Given the description of an element on the screen output the (x, y) to click on. 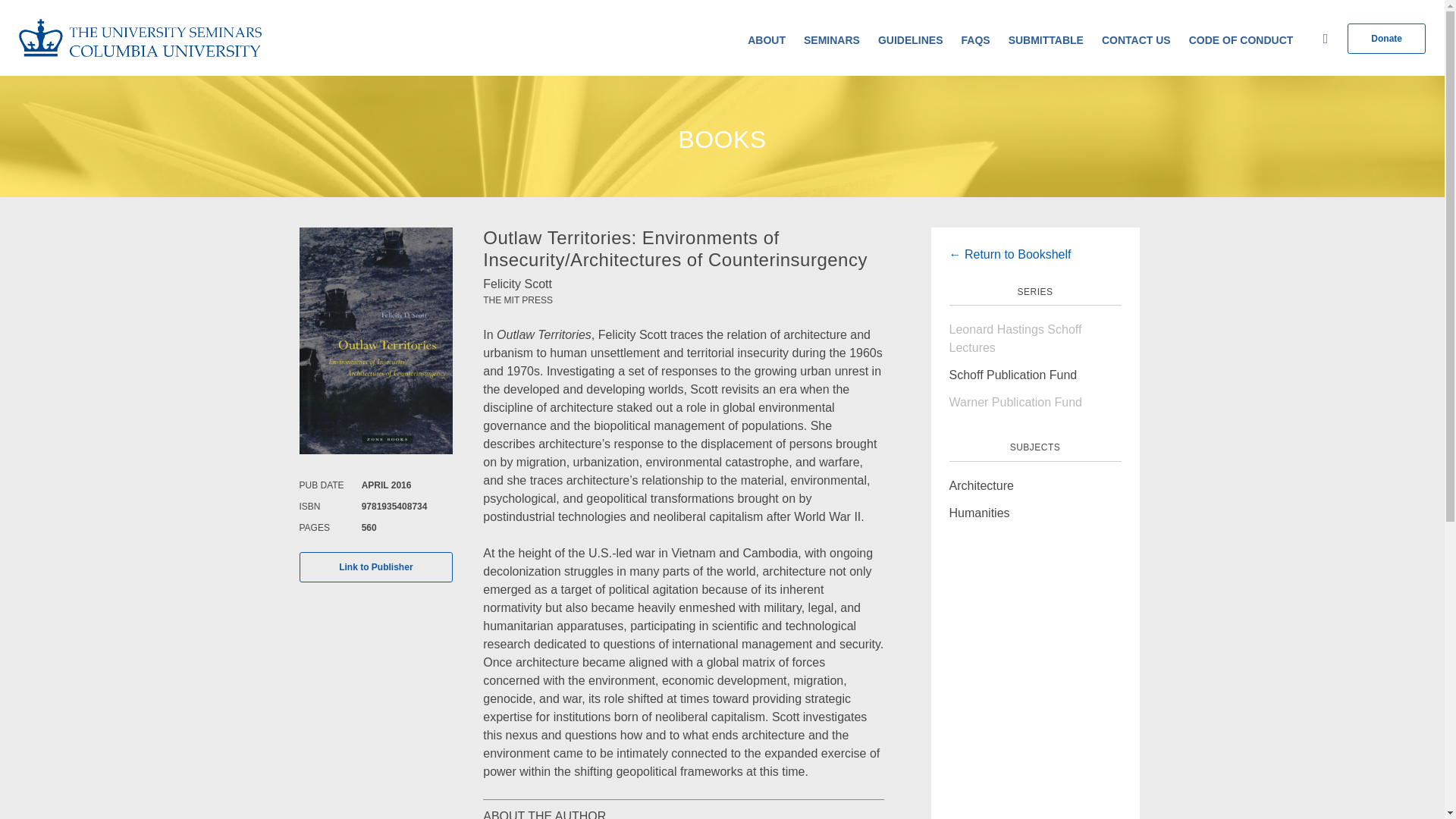
SUBMITTABLE (1046, 40)
ABOUT (767, 40)
Schoff Publication Fund (1013, 374)
Link to Publisher (375, 567)
Leonard Hastings Schoff Lectures (1015, 337)
CONTACT US (1136, 40)
FAQS (975, 40)
GUIDELINES (910, 40)
Donate (1386, 38)
CODE OF CONDUCT (1241, 40)
Warner Publication Fund (1016, 401)
SEMINARS (831, 40)
